Given the description of an element on the screen output the (x, y) to click on. 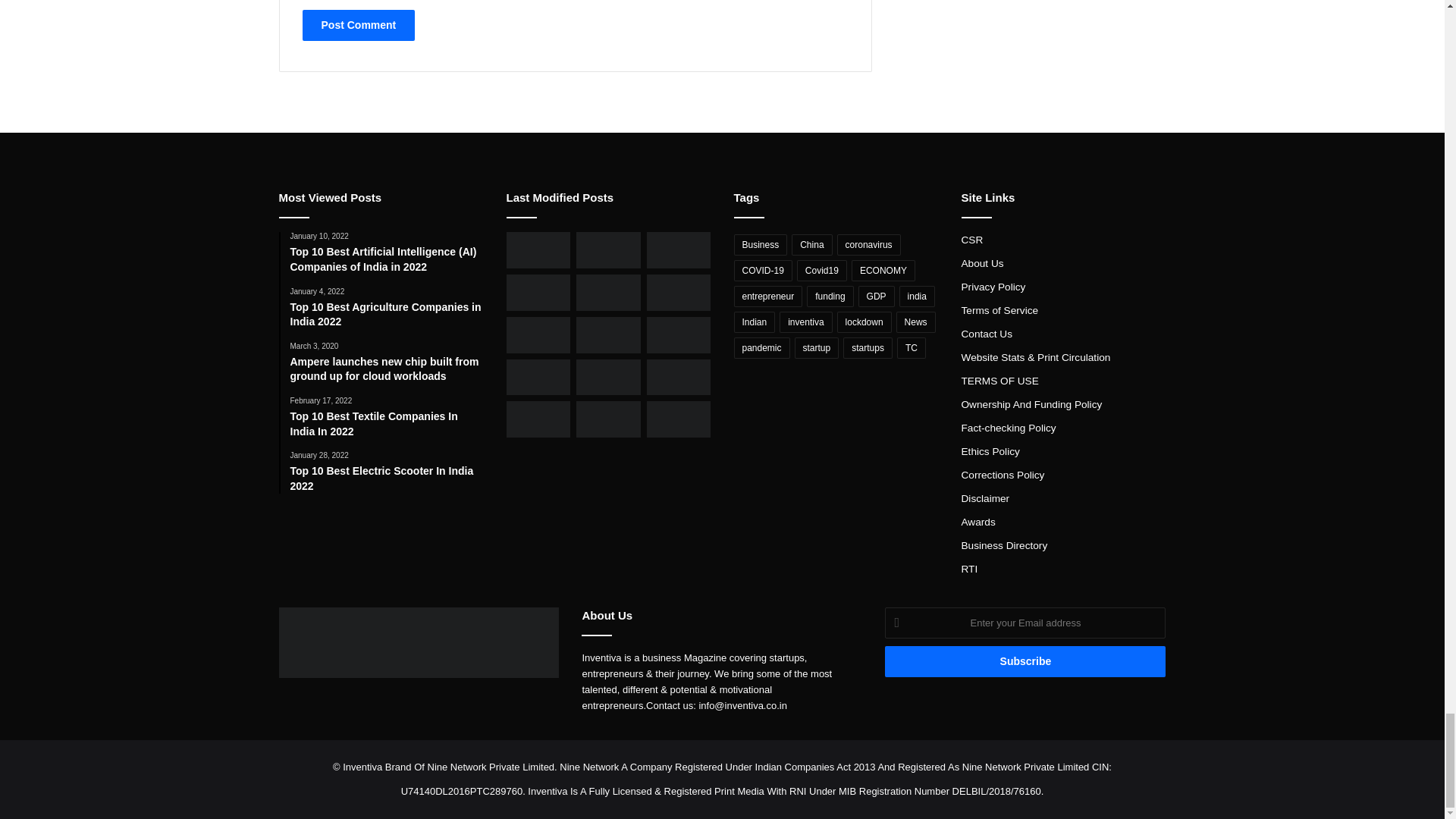
Post Comment (357, 24)
Subscribe (1025, 661)
